Given the description of an element on the screen output the (x, y) to click on. 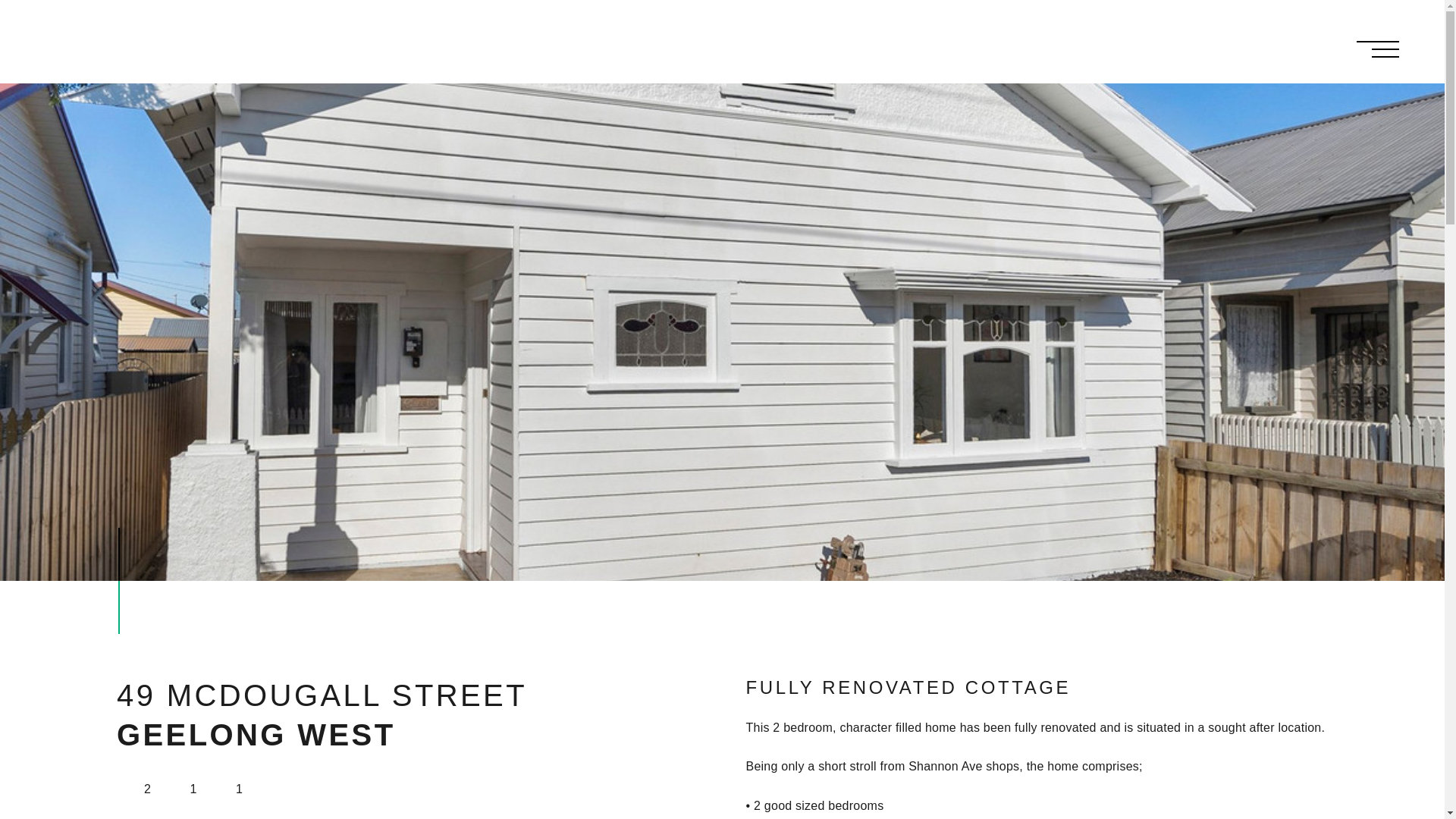
Back to home (136, 41)
